Given the description of an element on the screen output the (x, y) to click on. 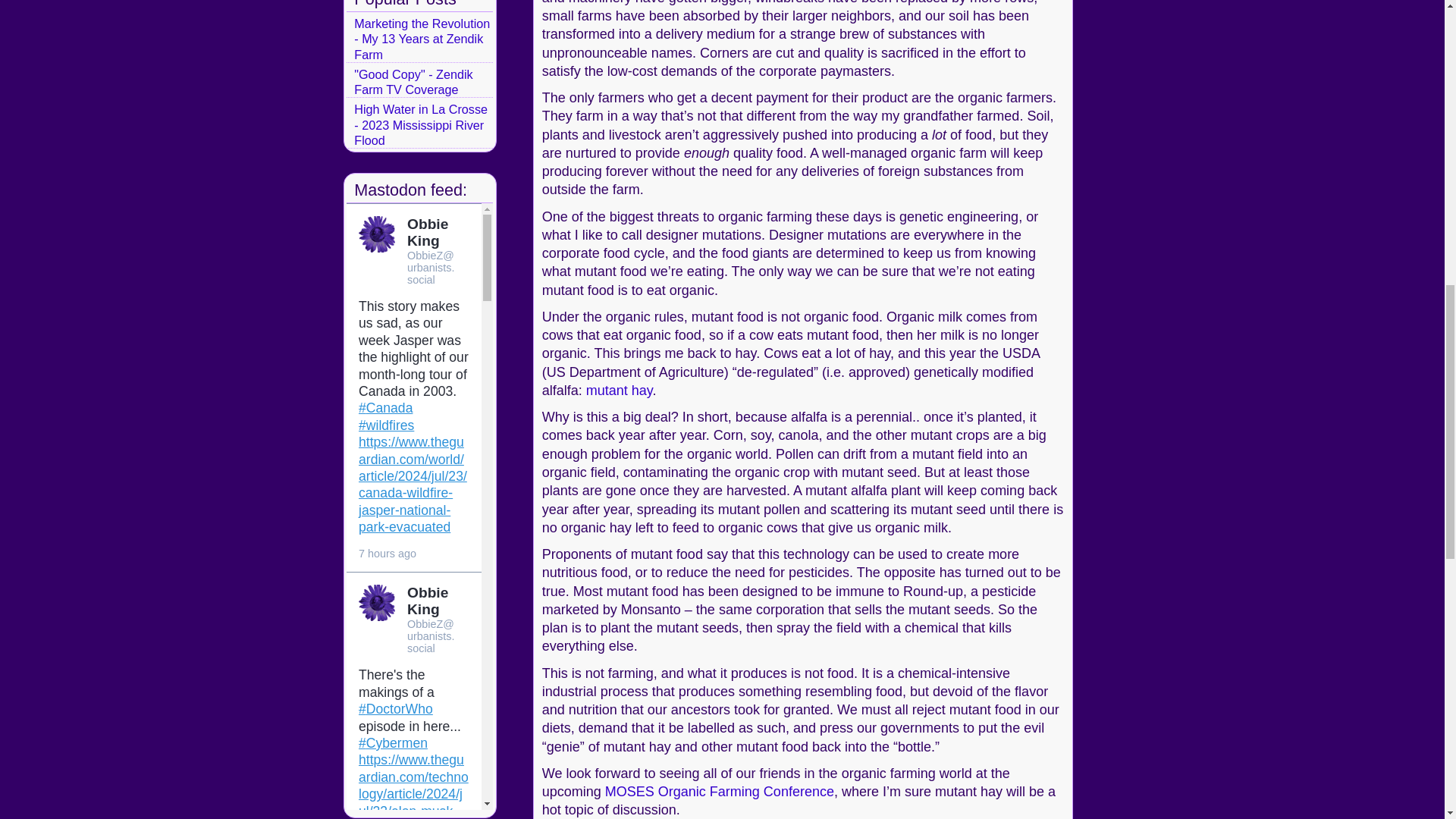
ABC News article on mutant hay (619, 390)
UMOFC web site (719, 791)
MOSES Organic Farming Conference (719, 791)
Marketing the Revolution - My 13 Years at Zendik Farm (421, 38)
mutant hay (619, 390)
"Good Copy" - Zendik Farm TV Coverage (412, 81)
High Water in La Crosse - 2023 Mississippi River Flood (420, 124)
